Given the description of an element on the screen output the (x, y) to click on. 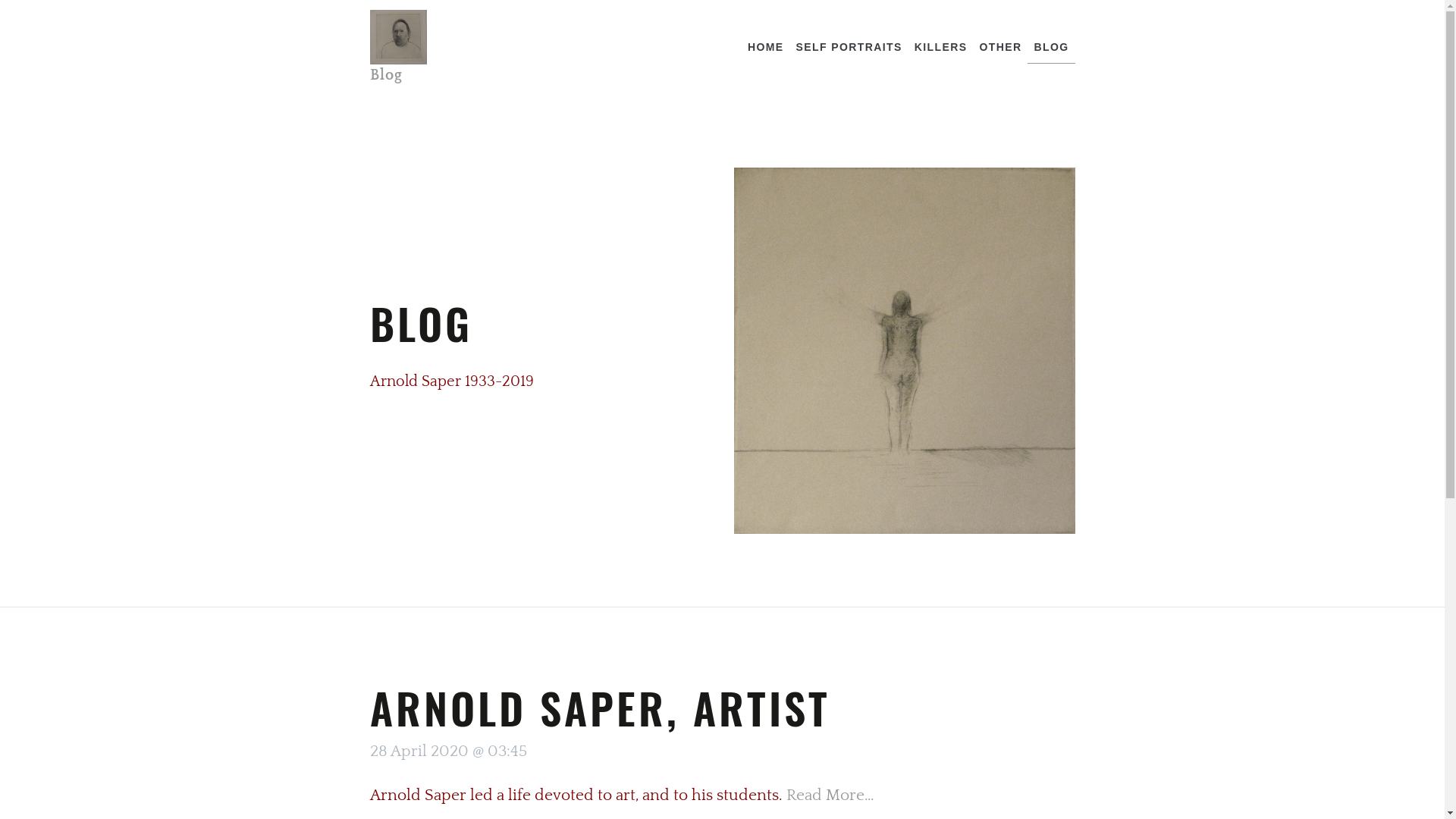
SELF PORTRAITS Element type: text (849, 47)
KILLERS Element type: text (940, 47)
OTHER Element type: text (999, 47)
HOME Element type: text (765, 47)
BLOG Element type: text (1050, 47)
Blog Element type: text (398, 47)
ARNOLD SAPER, ARTIST Element type: text (600, 706)
